Given the description of an element on the screen output the (x, y) to click on. 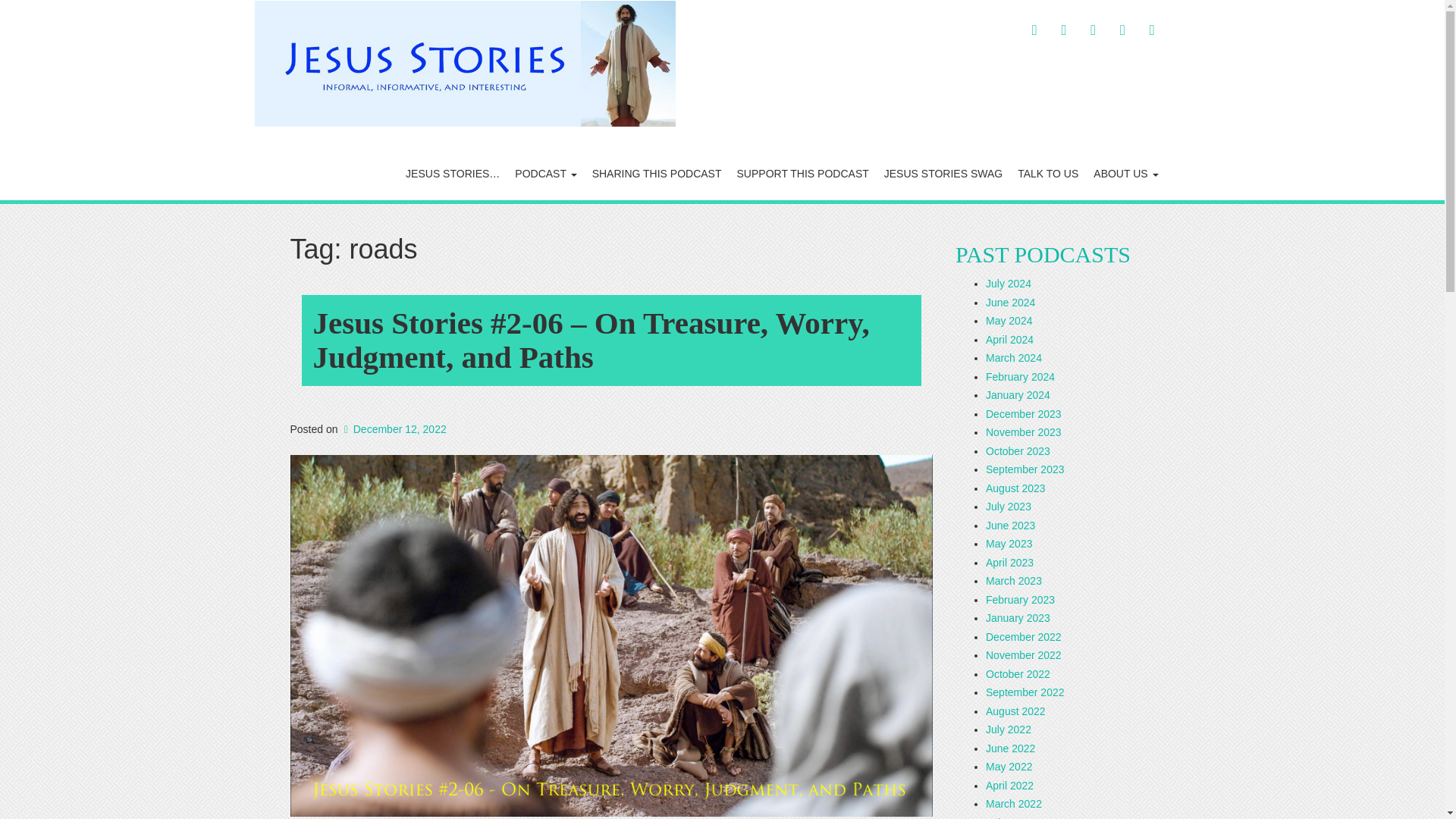
PODCAST (544, 173)
Podcast (544, 173)
SHARING THIS PODCAST (657, 173)
ABOUT US (1126, 173)
December 12, 2022 (392, 428)
TALK TO US (1048, 173)
JESUS STORIES SWAG (943, 173)
SUPPORT THIS PODCAST (802, 173)
